Given the description of an element on the screen output the (x, y) to click on. 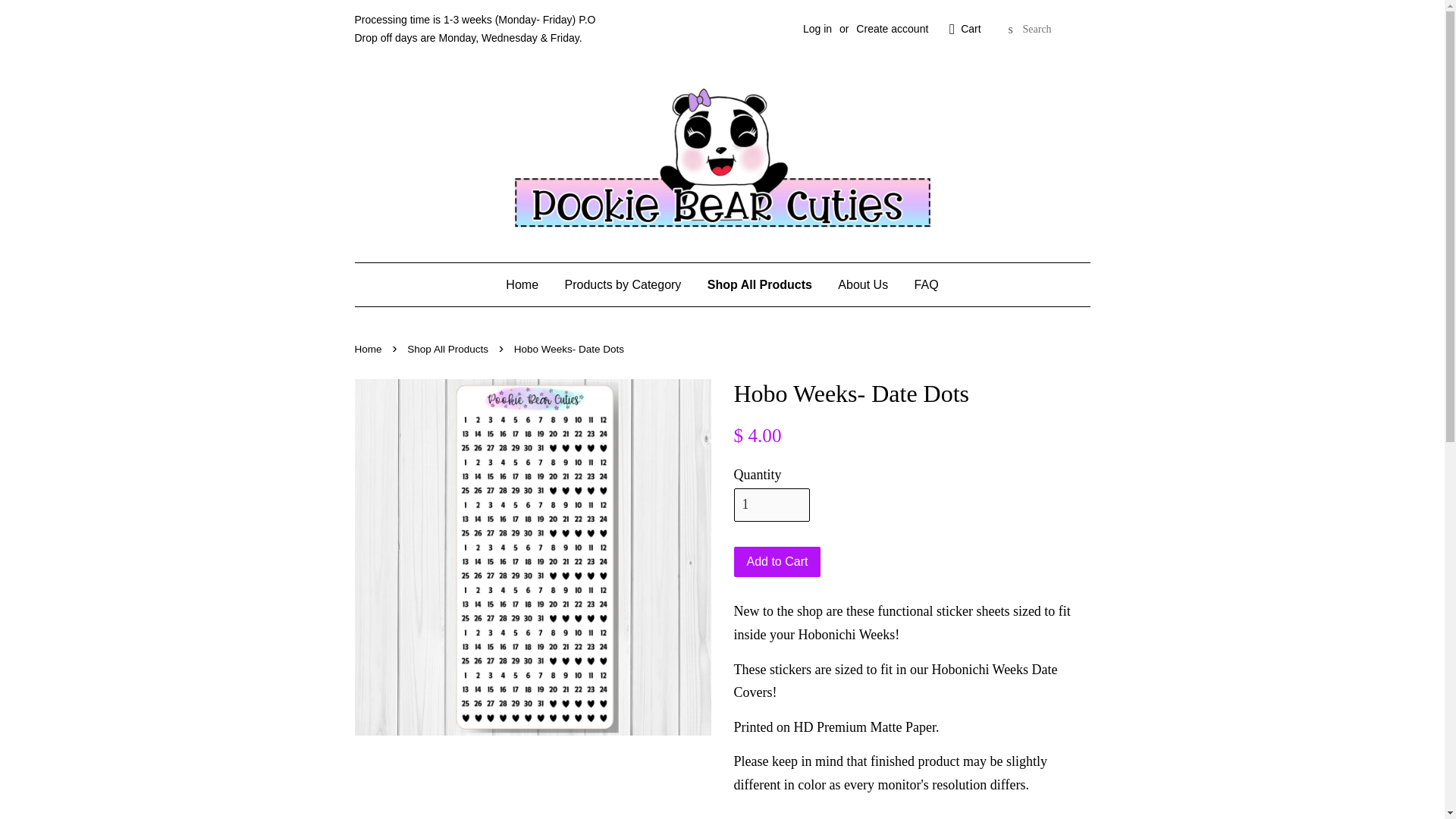
Shop All Products (449, 348)
Shop All Products (759, 284)
Search (1010, 29)
Add to Cart (777, 562)
Cart (969, 29)
About Us (863, 284)
Home (370, 348)
Products by Category (623, 284)
Log in (817, 28)
Home (527, 284)
